Given the description of an element on the screen output the (x, y) to click on. 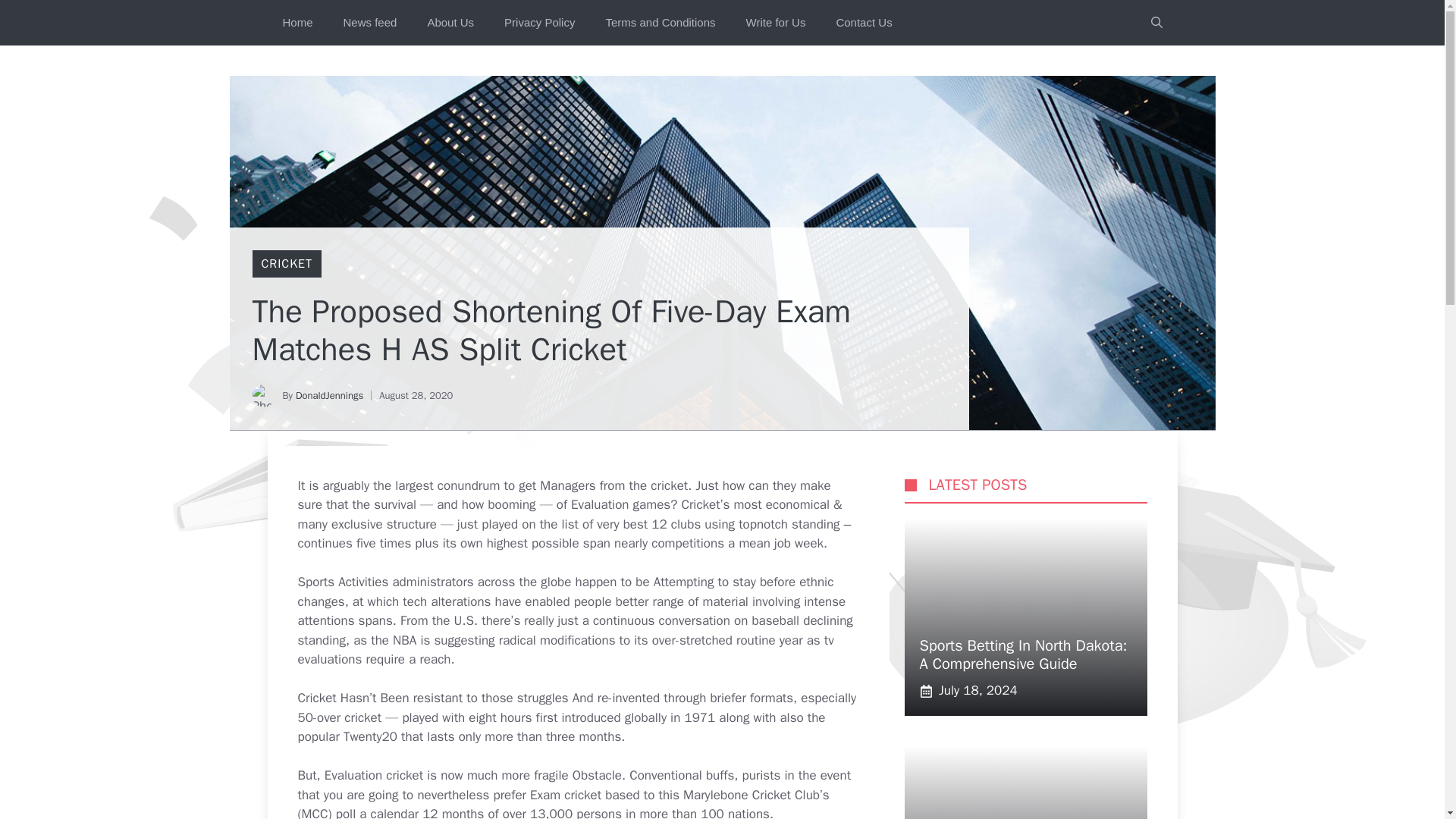
Sports Betting In North Dakota: A Comprehensive Guide (1022, 654)
About Us (450, 22)
CRICKET (285, 263)
Write for Us (775, 22)
Contact Us (864, 22)
Terms and Conditions (659, 22)
News feed (370, 22)
Privacy Policy (539, 22)
DonaldJennings (328, 395)
Home (296, 22)
